Given the description of an element on the screen output the (x, y) to click on. 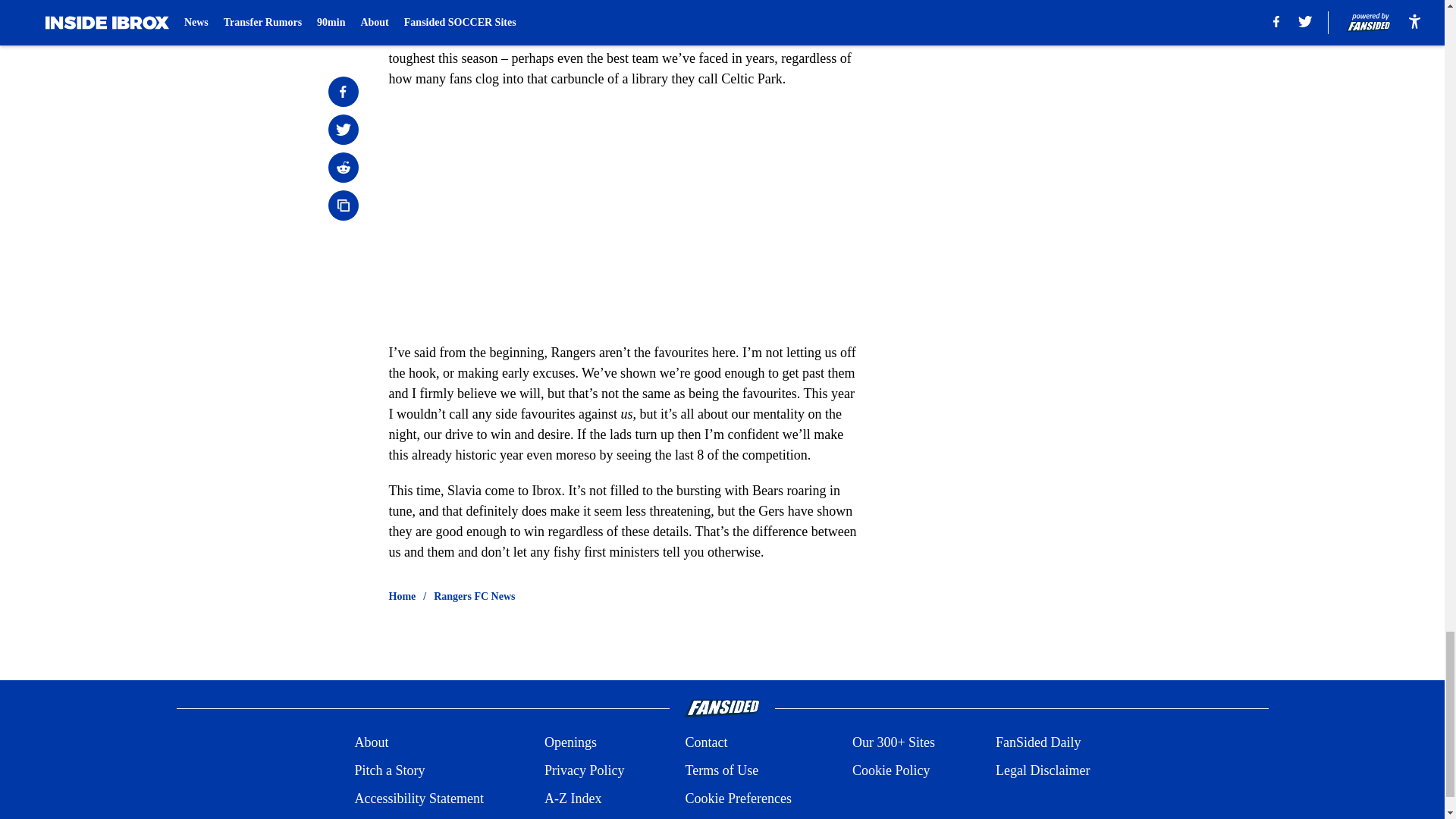
Cookie Preferences (737, 798)
Privacy Policy (584, 770)
Pitch a Story (389, 770)
Legal Disclaimer (1042, 770)
Openings (570, 742)
Rangers FC News (474, 596)
Cookie Policy (890, 770)
Contact (705, 742)
FanSided Daily (1038, 742)
Accessibility Statement (418, 798)
